Given the description of an element on the screen output the (x, y) to click on. 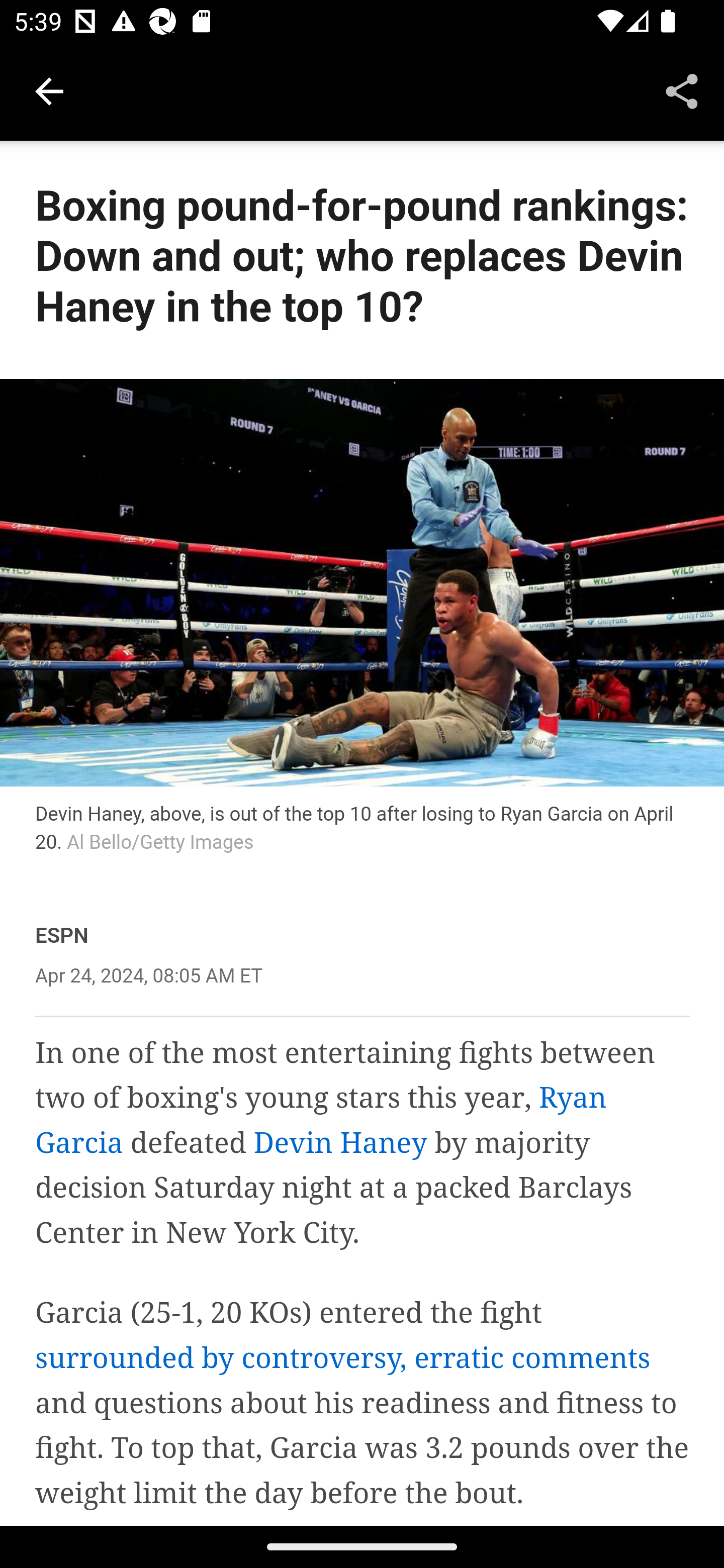
Navigate up (49, 91)
Share (681, 90)
Ryan Garcia (320, 1120)
Devin Haney (340, 1142)
surrounded by controversy, erratic comments (342, 1358)
